Given the description of an element on the screen output the (x, y) to click on. 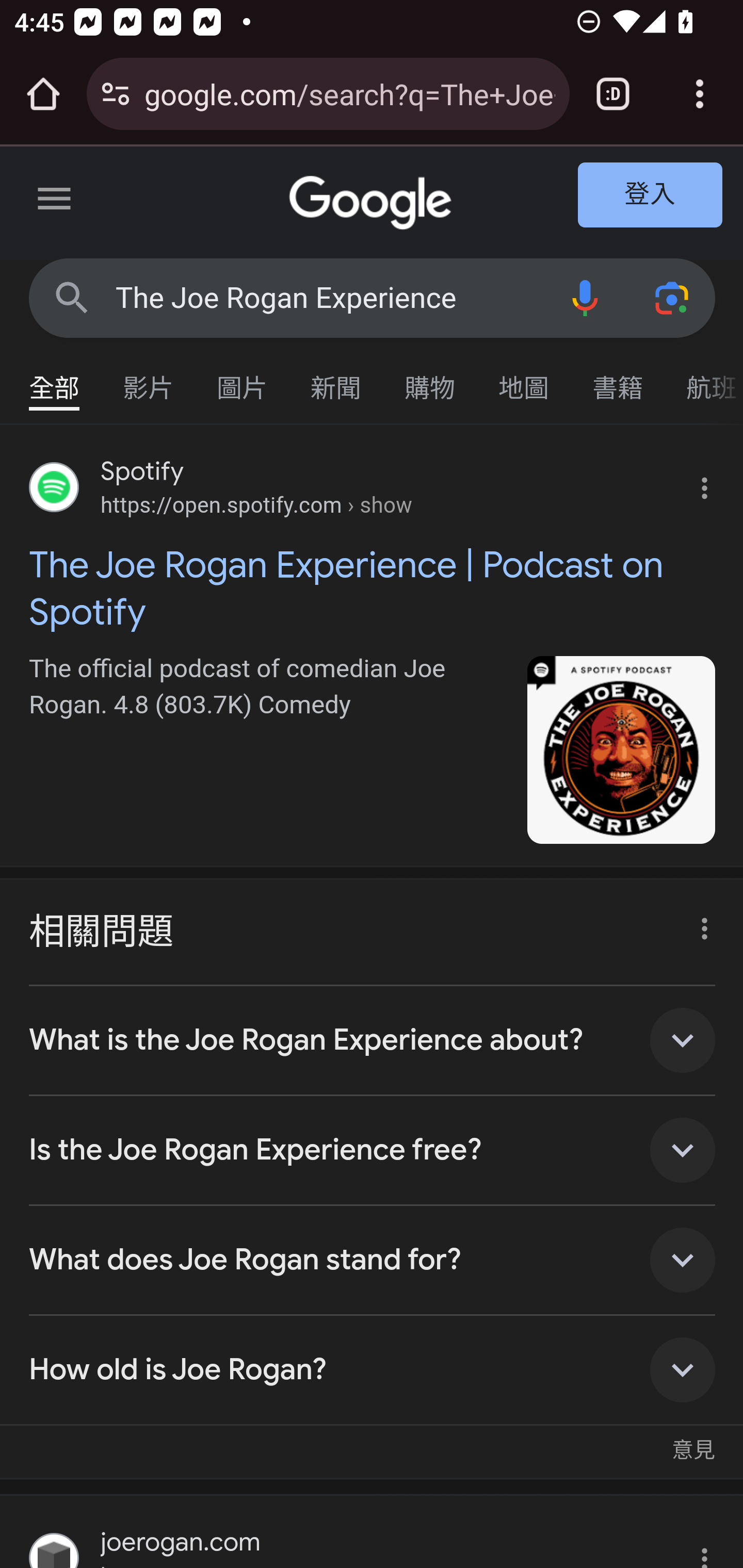
Open the home page (43, 93)
Connection is secure (115, 93)
Switch or close tabs (612, 93)
Customize and control Google Chrome (699, 93)
